Given the description of an element on the screen output the (x, y) to click on. 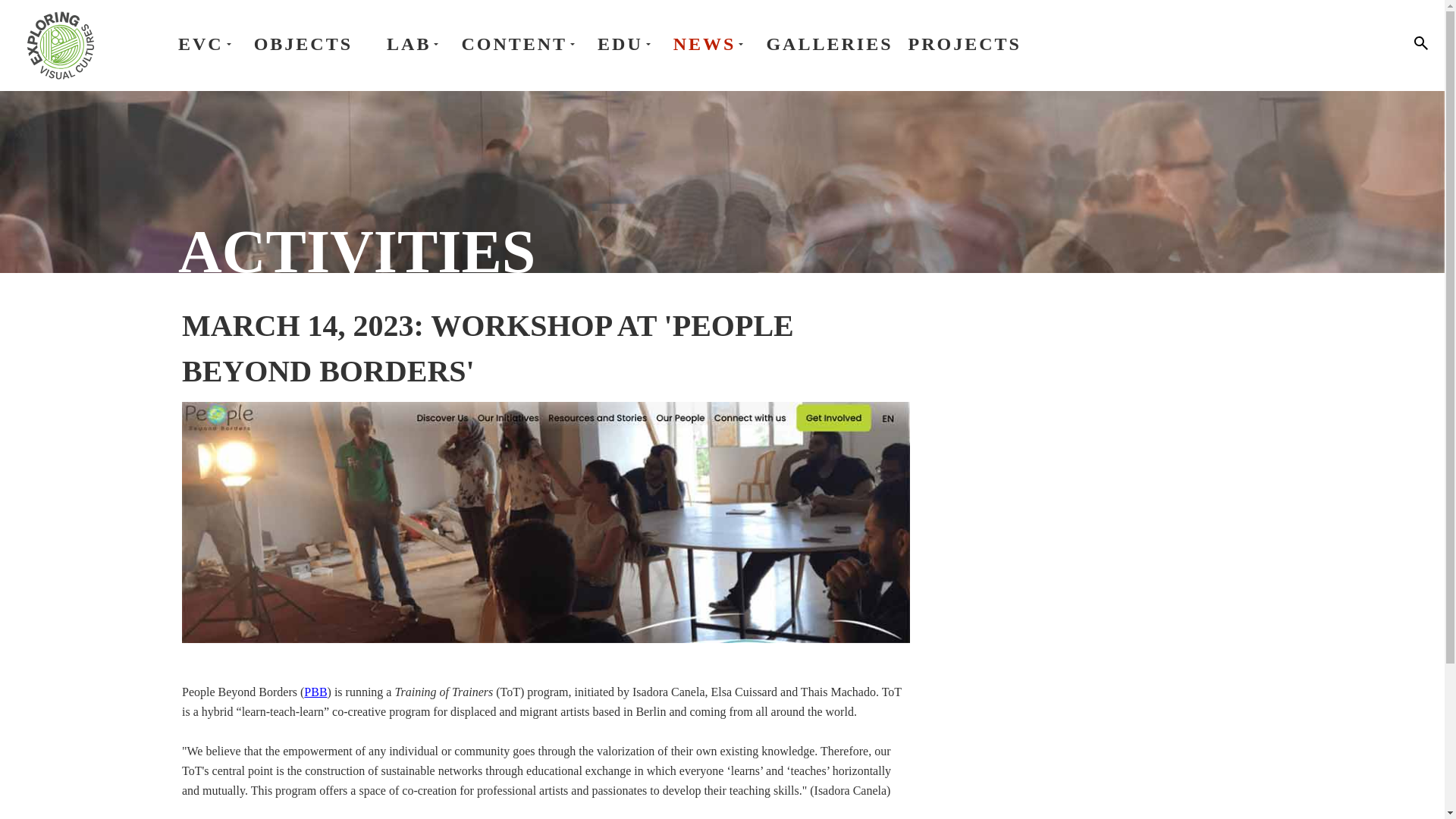
OBJECTS (302, 43)
LAB (416, 43)
PROJECTS (965, 43)
exploring visual cultures (60, 45)
EVC (207, 43)
NEWS (711, 43)
GALLERIES (828, 43)
EDU (627, 43)
CONTENT (521, 43)
